Given the description of an element on the screen output the (x, y) to click on. 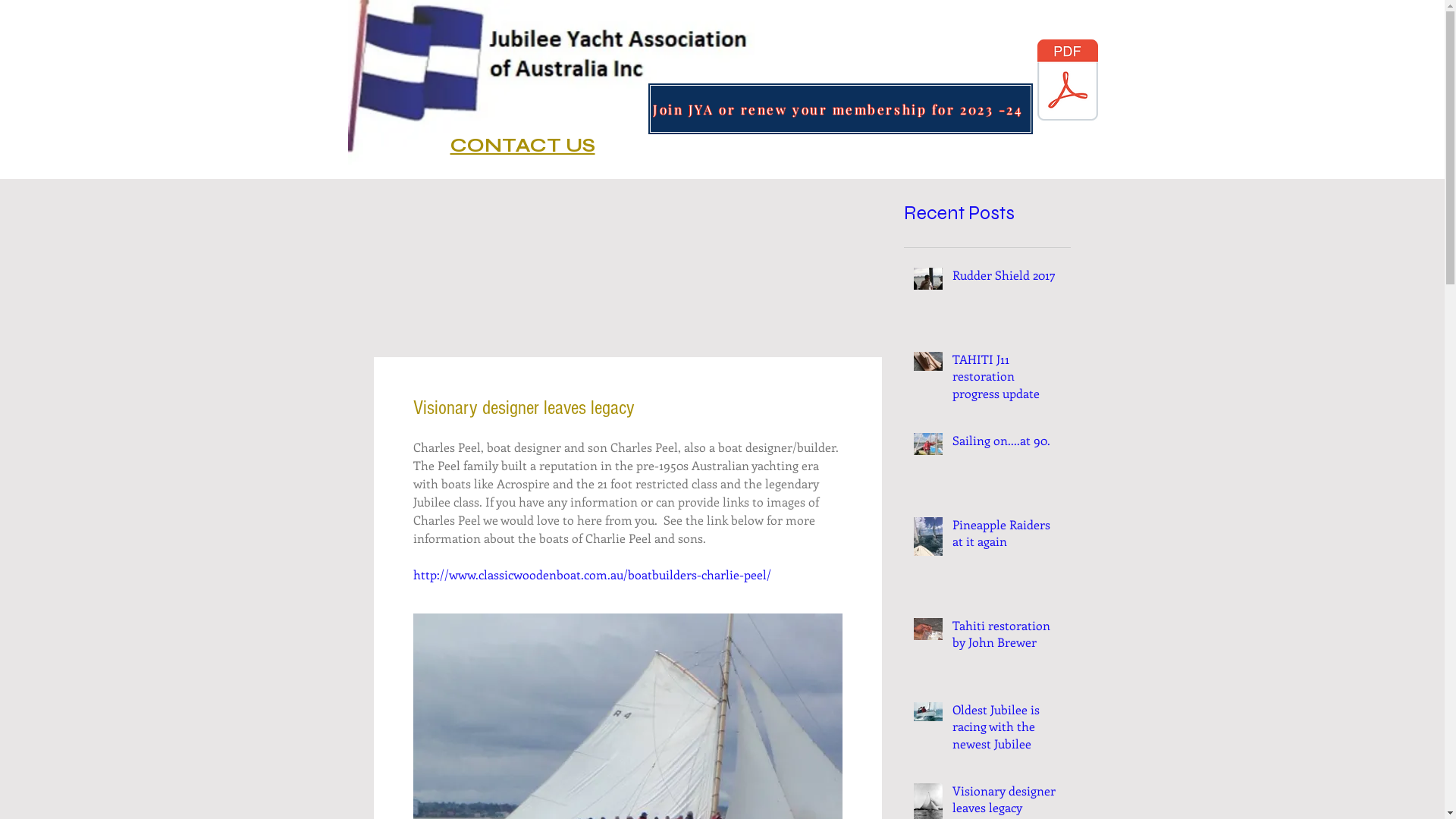
jube3.jpg Element type: hover (550, 83)
Sailing on....at 90. Element type: text (1006, 443)
Pineapple Raiders at it again Element type: text (1006, 536)
Rudder Shield 2017 Element type: text (1006, 277)
TAHITI J11 restoration progress update Element type: text (1006, 379)
CONTACT US Element type: text (522, 145)
Tahiti restoration by John Brewer Element type: text (1006, 637)
Join JYA or renew your membership for 2023 -24 Element type: text (840, 108)
Oldest Jubilee is racing with the newest Jubilee Element type: text (1006, 729)
